Given the description of an element on the screen output the (x, y) to click on. 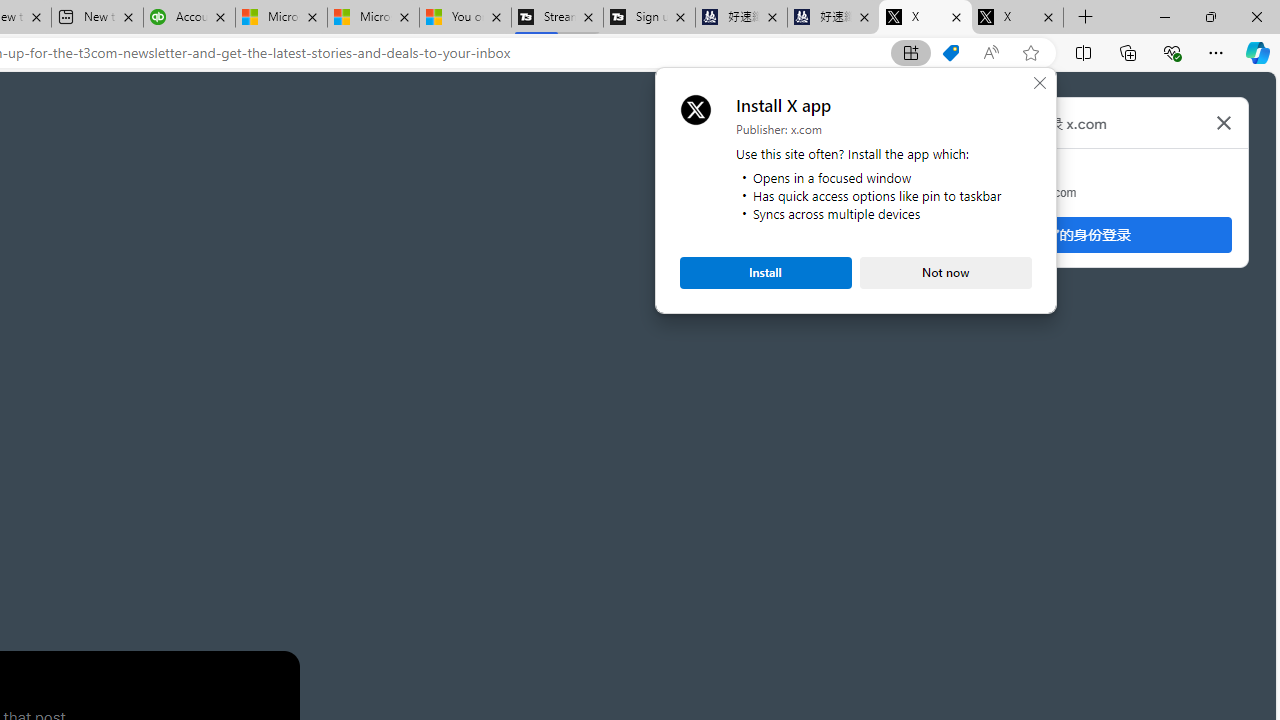
Microsoft Start (372, 17)
Accounting Software for Accountants, CPAs and Bookkeepers (189, 17)
Streaming Coverage | T3 (557, 17)
New Tab (1085, 17)
Microsoft Start Sports (280, 17)
Minimize (1164, 16)
Copilot (Ctrl+Shift+.) (1258, 52)
Not now (945, 272)
Restore (1210, 16)
Close (1039, 83)
X (1017, 17)
Settings and more (Alt+F) (1215, 52)
